Given the description of an element on the screen output the (x, y) to click on. 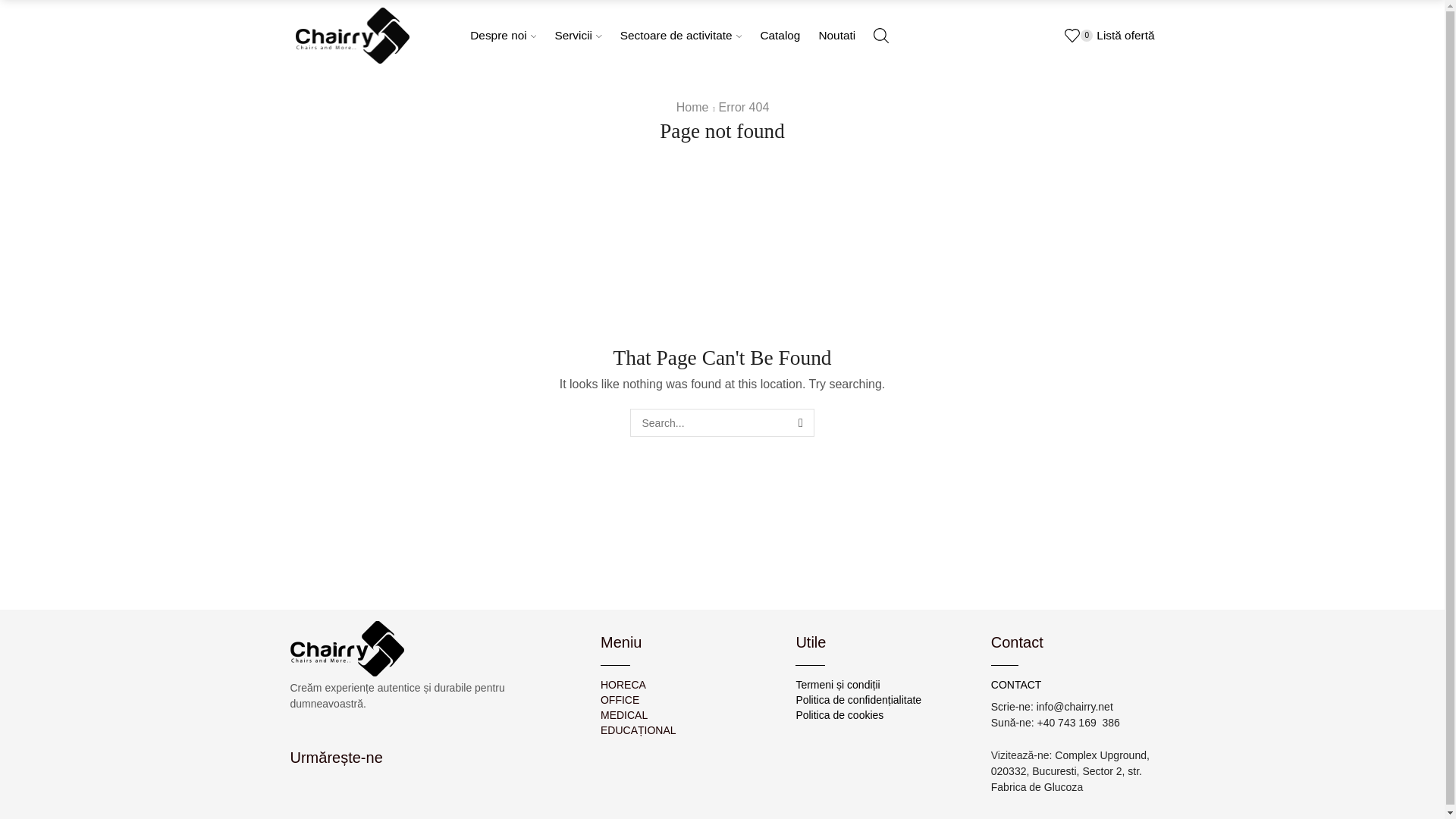
HORECA (686, 684)
Politica de cookies (881, 714)
chairry-logo-black (346, 648)
MEDICAL (686, 714)
OFFICE (686, 699)
